Given the description of an element on the screen output the (x, y) to click on. 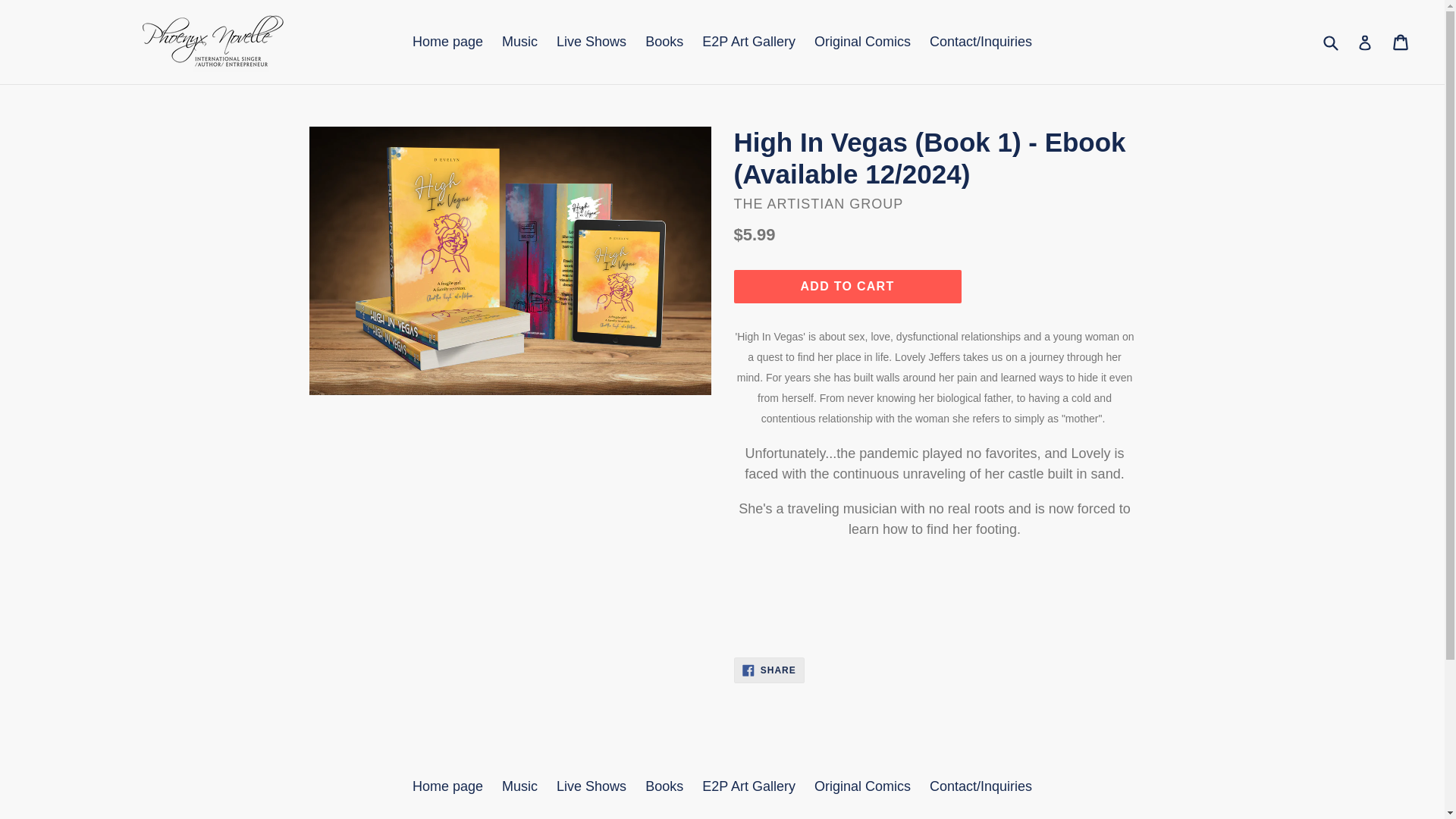
Home page (447, 785)
Books (663, 41)
Original Comics (862, 41)
Music (519, 785)
Music (519, 41)
Share on Facebook (769, 670)
Books (663, 785)
E2P Art Gallery (747, 785)
Live Shows (769, 670)
Live Shows (590, 41)
E2P Art Gallery (591, 785)
ADD TO CART (748, 41)
Original Comics (846, 286)
Home page (862, 785)
